Given the description of an element on the screen output the (x, y) to click on. 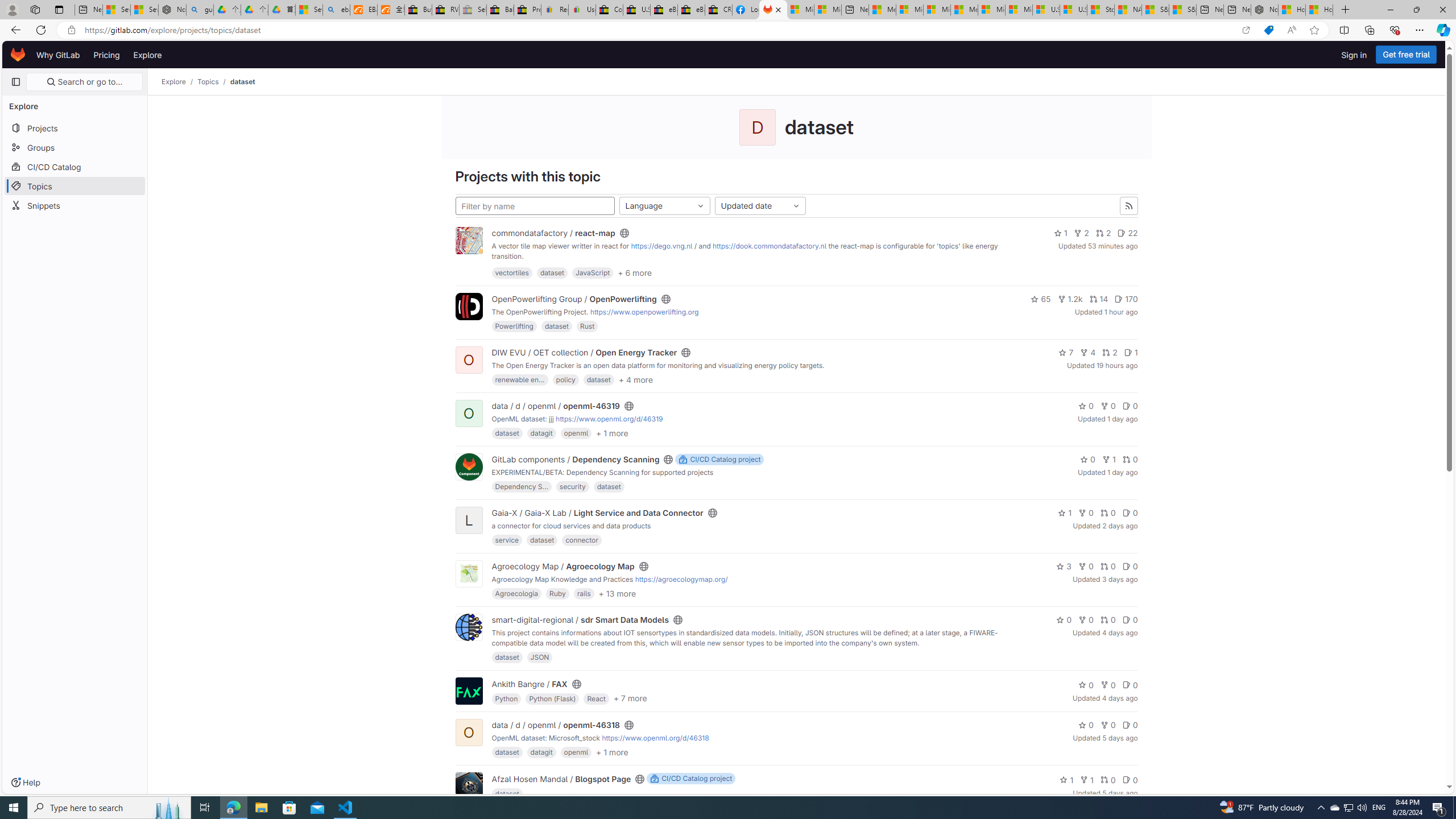
CI/CD Catalog (74, 166)
connector (581, 539)
Homepage (17, 54)
CI/CD Catalog (74, 166)
Filter by name (534, 205)
Subscribe to the new projects feed (1128, 205)
policy (565, 379)
GitLab components / Dependency Scanning (575, 459)
Settings and more (Alt+F) (1419, 29)
Snippets (74, 205)
Shopping in Microsoft Edge (1268, 29)
Microsoft account | Home (936, 9)
Collections (1369, 29)
